Given the description of an element on the screen output the (x, y) to click on. 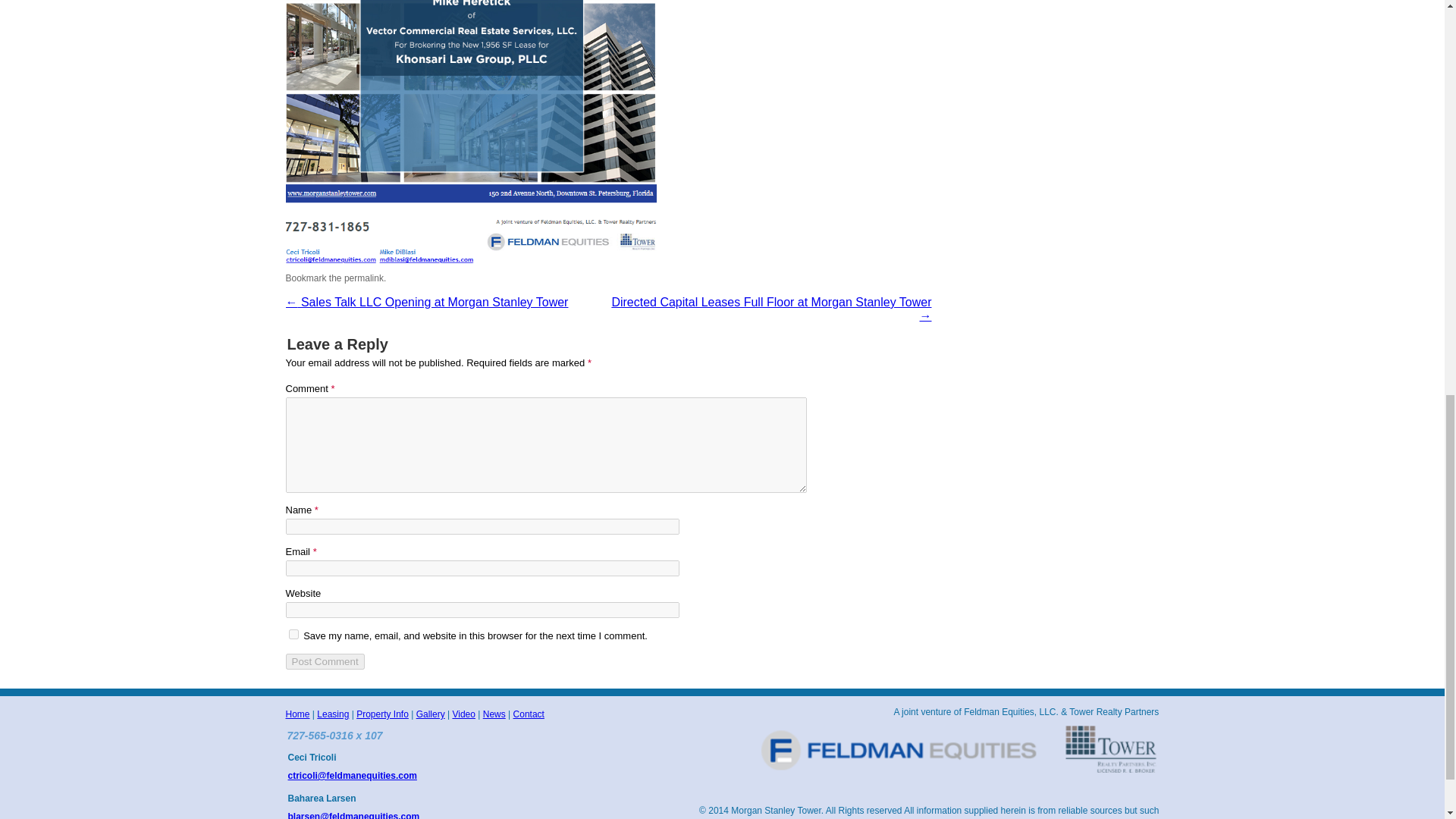
yes (293, 634)
Leasing (333, 714)
News (494, 714)
Post Comment (324, 661)
Video (462, 714)
Property Info (382, 714)
Contact (528, 714)
Gallery (430, 714)
Post Comment (324, 661)
Home (296, 714)
permalink (363, 277)
